Given the description of an element on the screen output the (x, y) to click on. 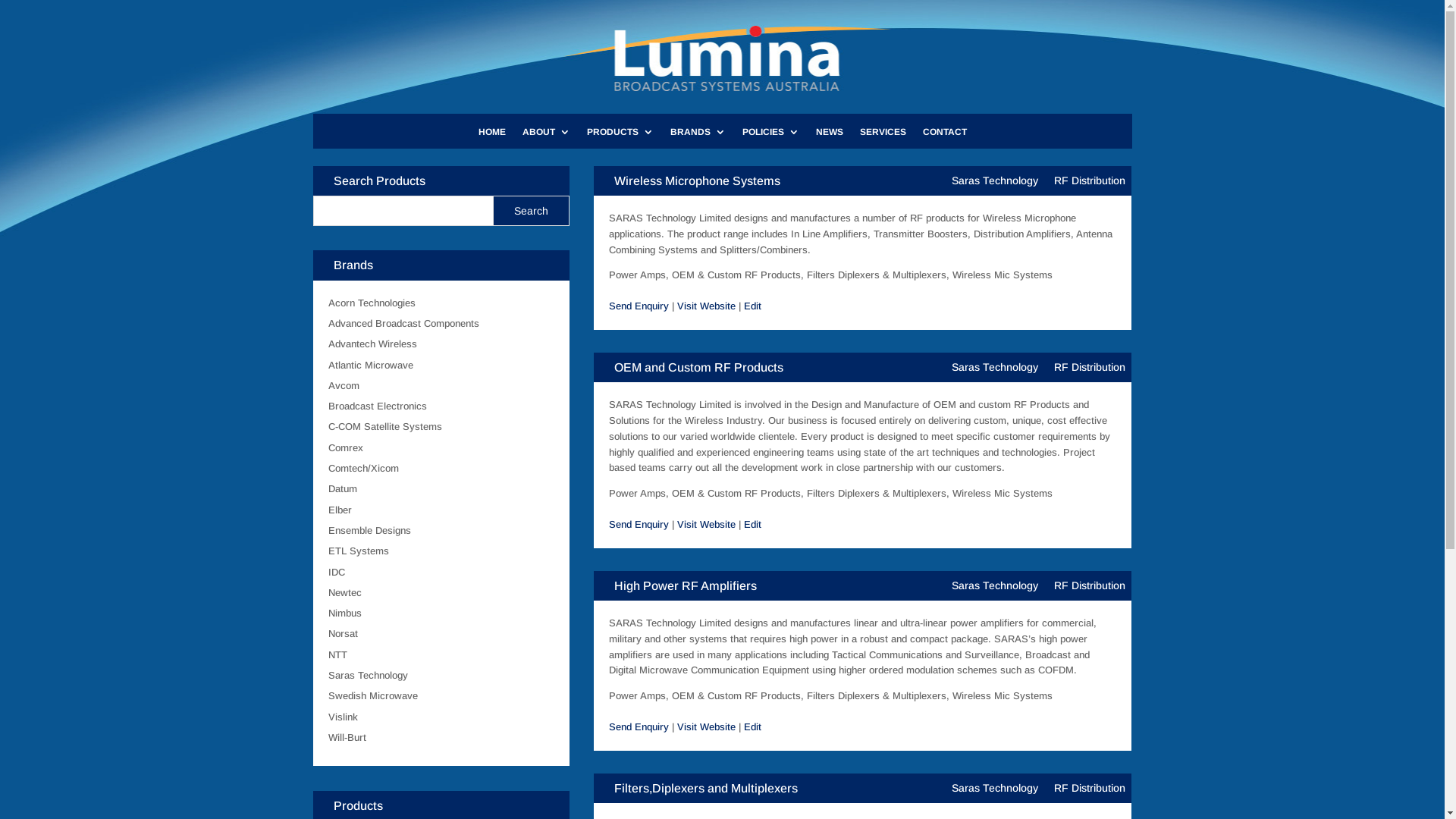
ABOUT Element type: text (545, 137)
Swedish Microwave Element type: text (372, 695)
Nimbus Element type: text (343, 612)
Will-Burt Element type: text (346, 737)
Newtec Element type: text (343, 592)
NEWS Element type: text (829, 137)
RF Distribution Element type: text (1089, 788)
OEM and Custom RF Products Element type: text (698, 366)
Comtech/Xicom Element type: text (362, 467)
CONTACT Element type: text (944, 137)
Saras Technology Element type: text (994, 367)
PRODUCTS Element type: text (619, 137)
POLICIES Element type: text (769, 137)
C-COM Satellite Systems Element type: text (384, 426)
Acorn Technologies Element type: text (370, 302)
Avcom Element type: text (342, 385)
Advanced Broadcast Components Element type: text (402, 323)
Wireless Microphone Systems Element type: text (697, 180)
Visit Website Element type: text (706, 524)
Edit Element type: text (752, 726)
Send Enquiry Element type: text (638, 524)
Edit Element type: text (752, 305)
Norsat Element type: text (342, 633)
Filters,Diplexers and Multiplexers Element type: text (705, 787)
High Power RF Amplifiers Element type: text (685, 585)
RF Distribution Element type: text (1089, 180)
Vislink Element type: text (342, 716)
Ensemble Designs Element type: text (368, 530)
IDC Element type: text (335, 571)
HOME Element type: text (491, 137)
RF Distribution Element type: text (1089, 367)
Saras Technology Element type: text (994, 585)
RF Distribution Element type: text (1089, 585)
ETL Systems Element type: text (357, 550)
Saras Technology Element type: text (994, 788)
Datum Element type: text (341, 488)
Advantech Wireless Element type: text (371, 343)
NTT Element type: text (336, 654)
Search Element type: text (530, 210)
Visit Website Element type: text (706, 305)
Elber Element type: text (339, 509)
Send Enquiry Element type: text (638, 726)
SERVICES Element type: text (882, 137)
Atlantic Microwave Element type: text (369, 364)
Send Enquiry Element type: text (638, 305)
Visit Website Element type: text (706, 726)
BRANDS Element type: text (697, 137)
Comrex Element type: text (344, 447)
Saras Technology Element type: text (994, 180)
Saras Technology Element type: text (367, 674)
Edit Element type: text (752, 524)
Broadcast Electronics Element type: text (376, 405)
